Given the description of an element on the screen output the (x, y) to click on. 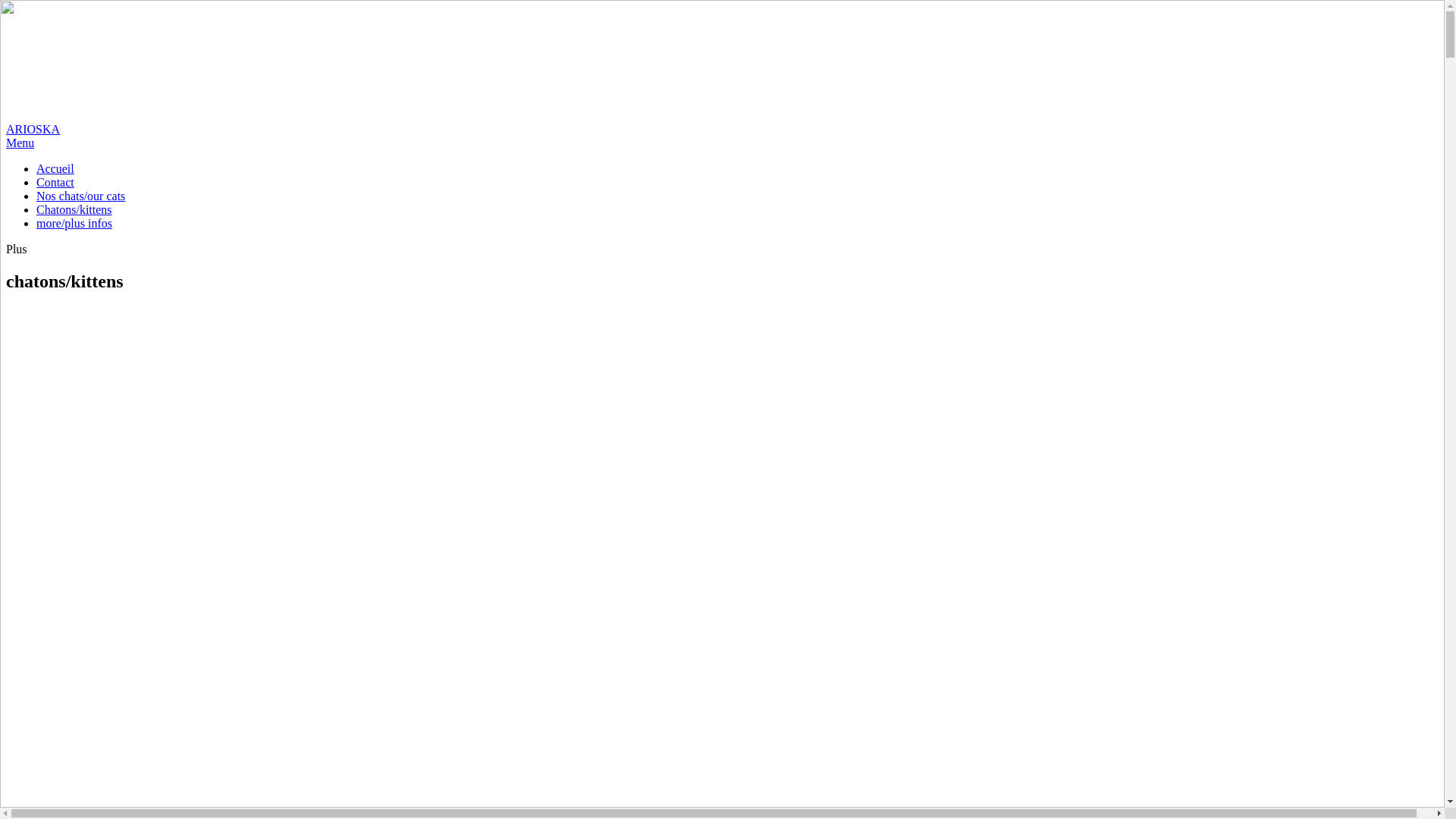
Contact Element type: text (55, 181)
Menu Element type: text (20, 142)
Chatons/kittens Element type: text (74, 209)
more/plus infos Element type: text (74, 222)
Nos chats/our cats Element type: text (80, 195)
ARIOSKA Element type: text (722, 71)
Accueil Element type: text (55, 168)
